Given the description of an element on the screen output the (x, y) to click on. 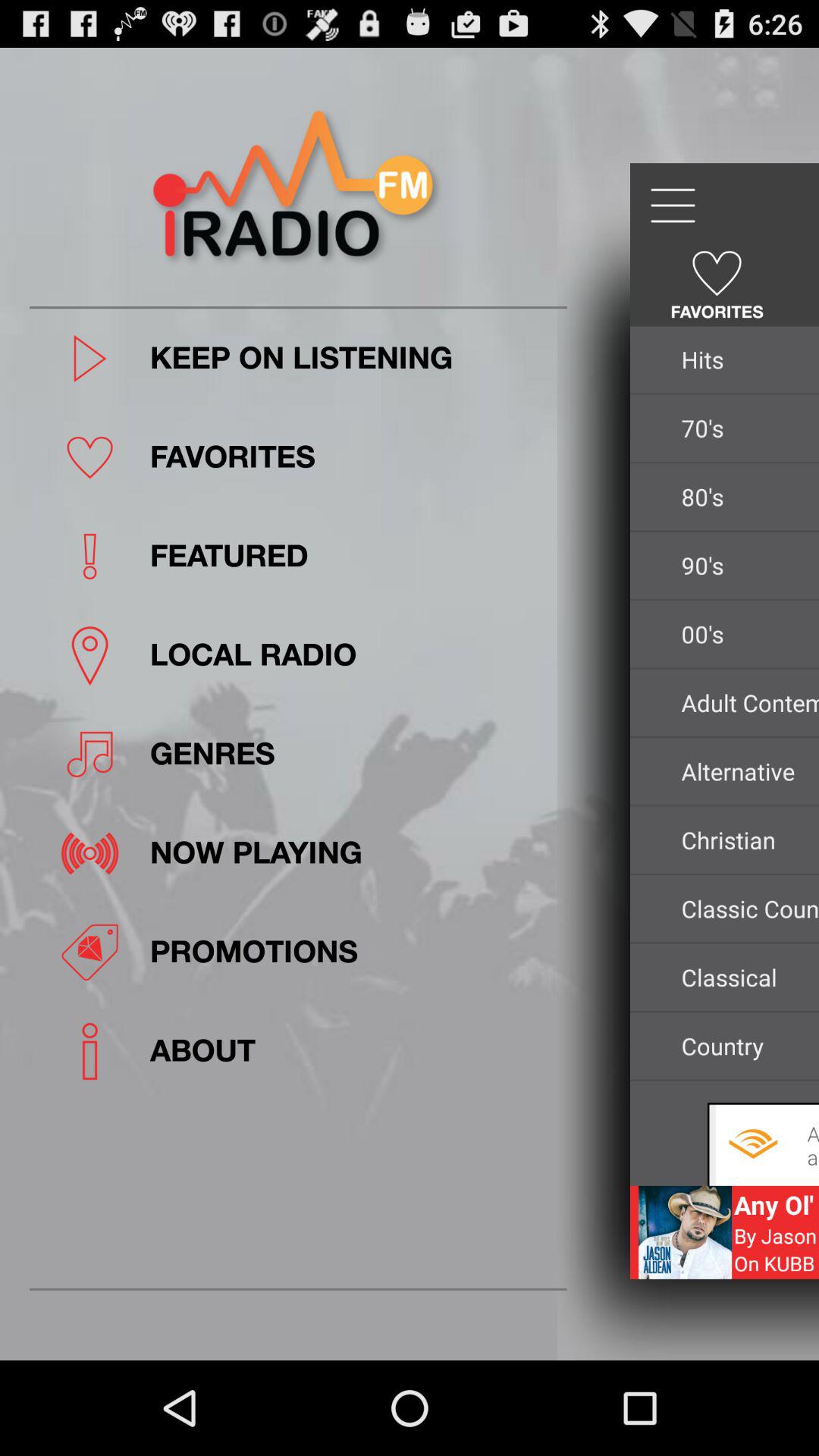
go to action dots (672, 205)
